Given the description of an element on the screen output the (x, y) to click on. 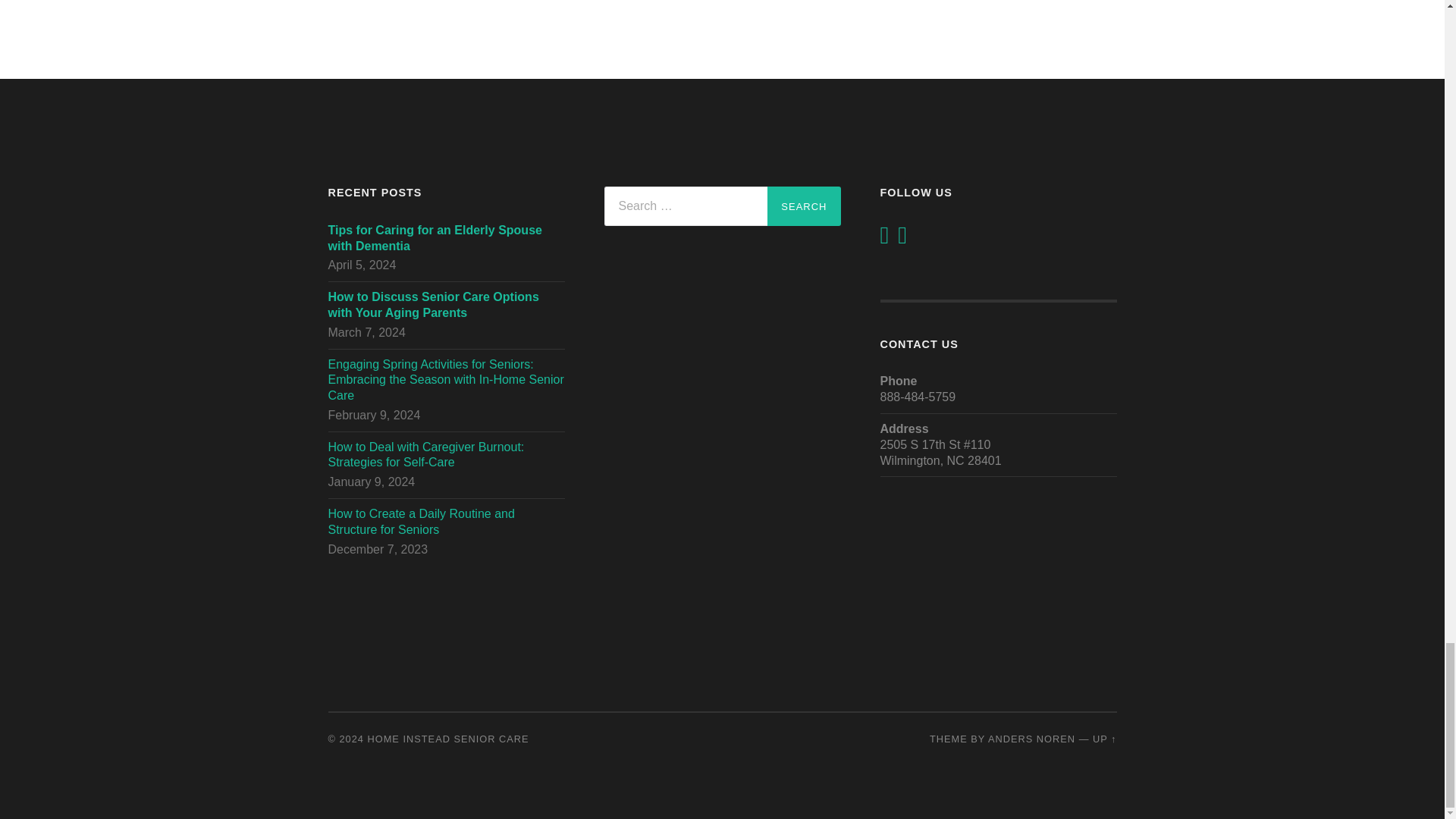
HOME INSTEAD SENIOR CARE (448, 738)
How to Discuss Senior Care Options with Your Aging Parents (445, 305)
Search (803, 206)
Search (803, 206)
Visit Home Instead Senior Care on Instagram (902, 238)
Search (803, 206)
Visit Home Instead Senior Care on Facebook (883, 238)
How to Create a Daily Routine and Structure for Seniors (445, 522)
To the top (1104, 738)
How to Deal with Caregiver Burnout: Strategies for Self-Care (445, 455)
Tips for Caring for an Elderly Spouse with Dementia (445, 238)
